Given the description of an element on the screen output the (x, y) to click on. 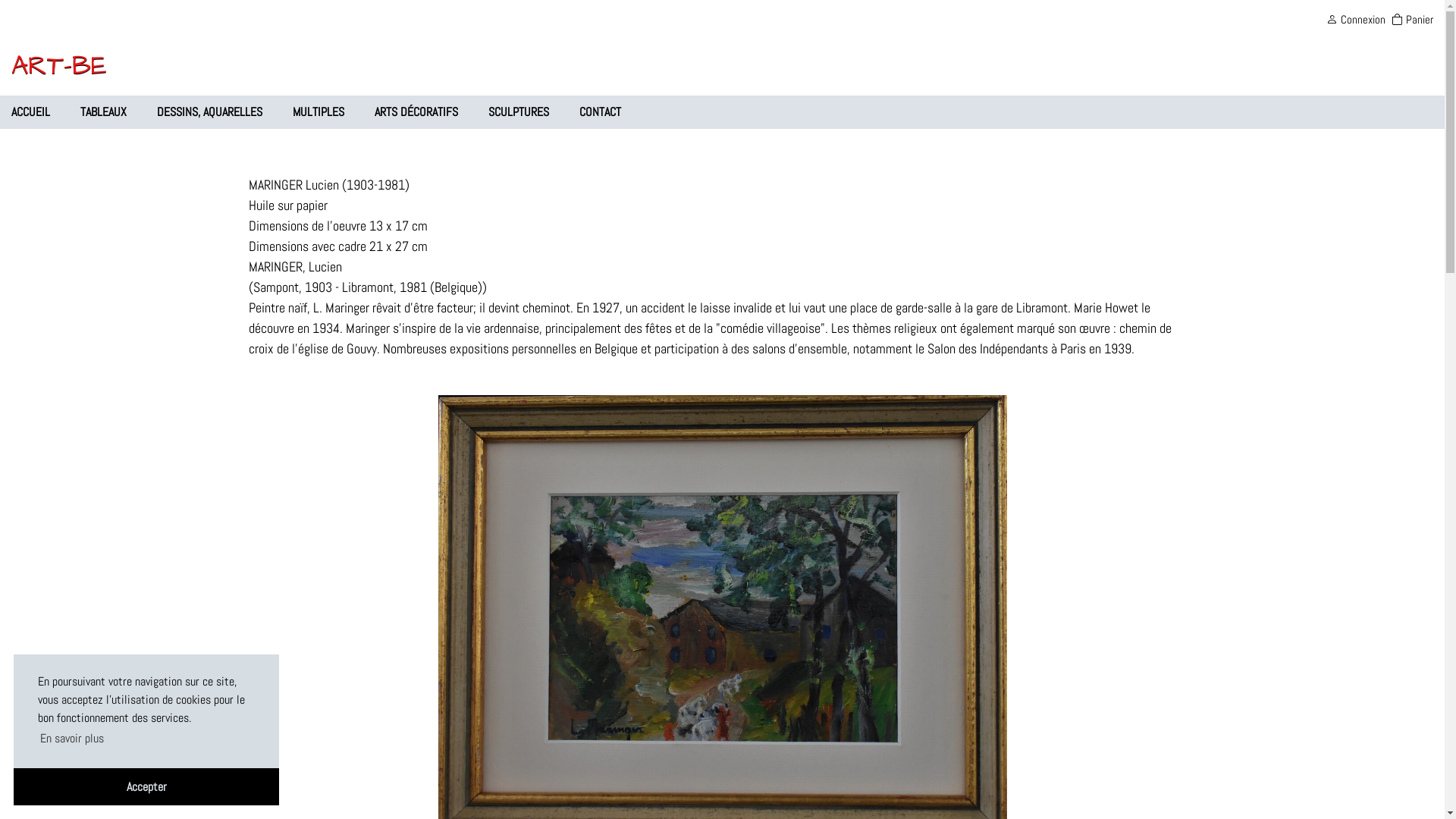
  Element type: hover (722, 613)
Accepter Element type: text (146, 786)
Panier Element type: text (1412, 19)
ART-BE Element type: text (58, 65)
En savoir plus Element type: text (71, 738)
DESSINS, AQUARELLES Element type: text (209, 112)
CONTACT Element type: text (600, 112)
SCULPTURES Element type: text (518, 112)
MULTIPLES Element type: text (318, 112)
TABLEAUX Element type: text (103, 112)
Connexion Element type: text (1355, 19)
ACCUEIL Element type: text (30, 112)
